Given the description of an element on the screen output the (x, y) to click on. 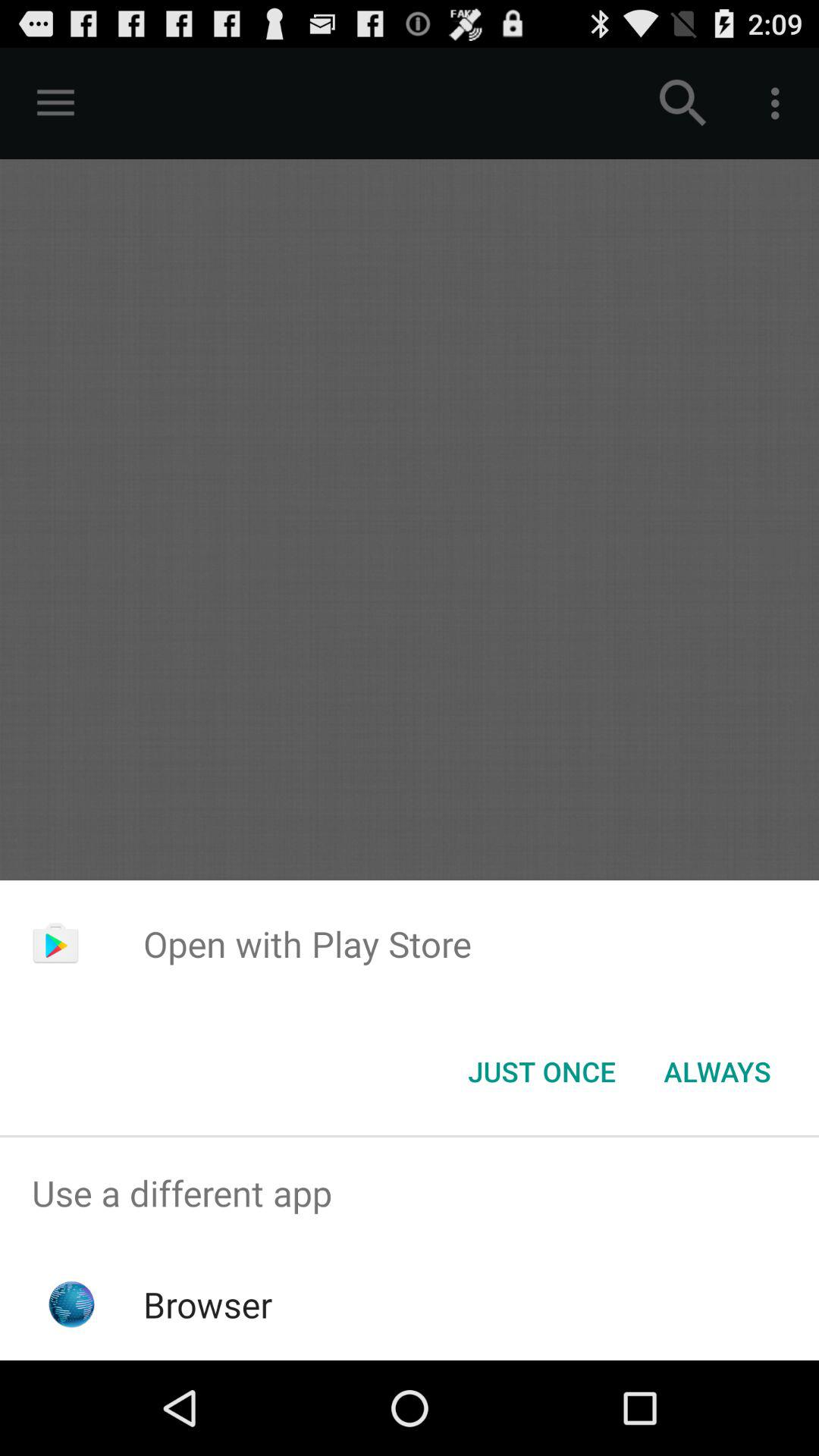
select the app below the open with play icon (717, 1071)
